Given the description of an element on the screen output the (x, y) to click on. 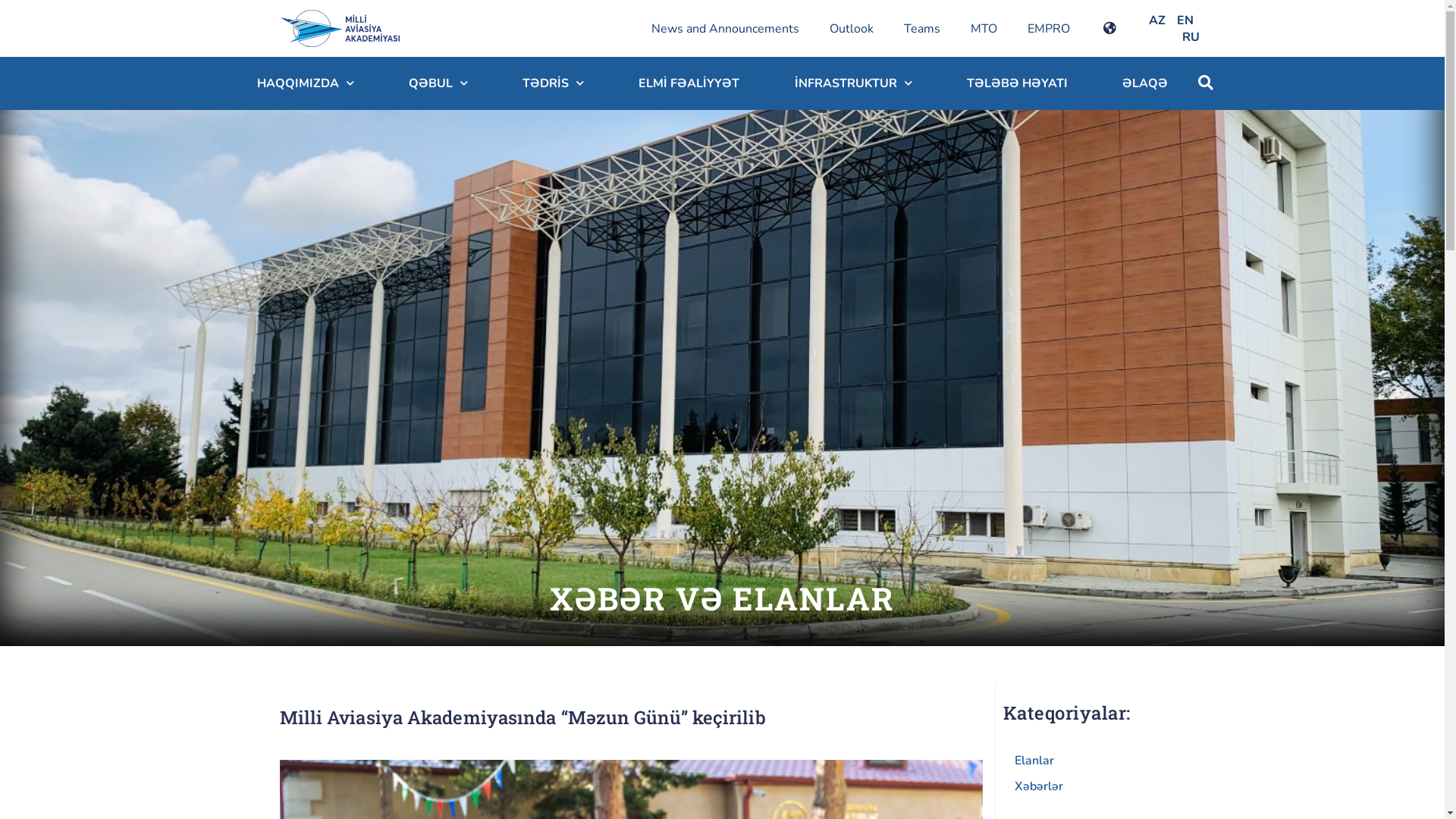
EN Element type: text (1184, 20)
RU Element type: text (1189, 36)
MTO Element type: text (983, 28)
Teams Element type: text (921, 28)
Outlook Element type: text (851, 28)
HAQQIMIZDA Element type: text (304, 83)
News and Announcements Element type: text (724, 28)
Elanlar Element type: text (1027, 760)
AZ Element type: text (1156, 20)
EMPRO Element type: text (1047, 28)
